Given the description of an element on the screen output the (x, y) to click on. 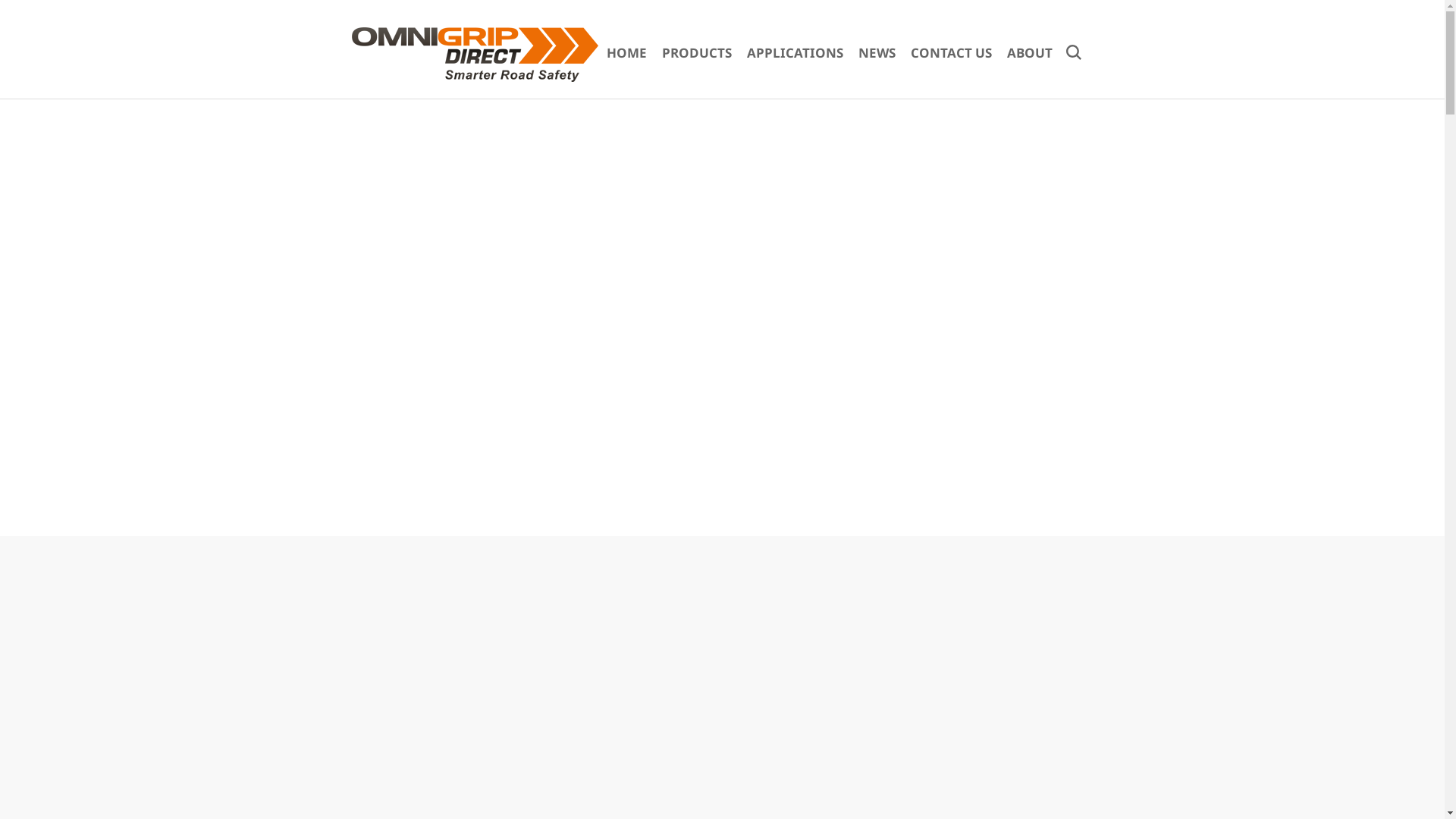
CONTACT US Element type: text (951, 52)
PRODUCTS Element type: text (696, 52)
HOME Element type: text (626, 52)
APPLICATIONS Element type: text (794, 52)
ABOUT Element type: text (1029, 52)
NEWS Element type: text (876, 52)
